Given the description of an element on the screen output the (x, y) to click on. 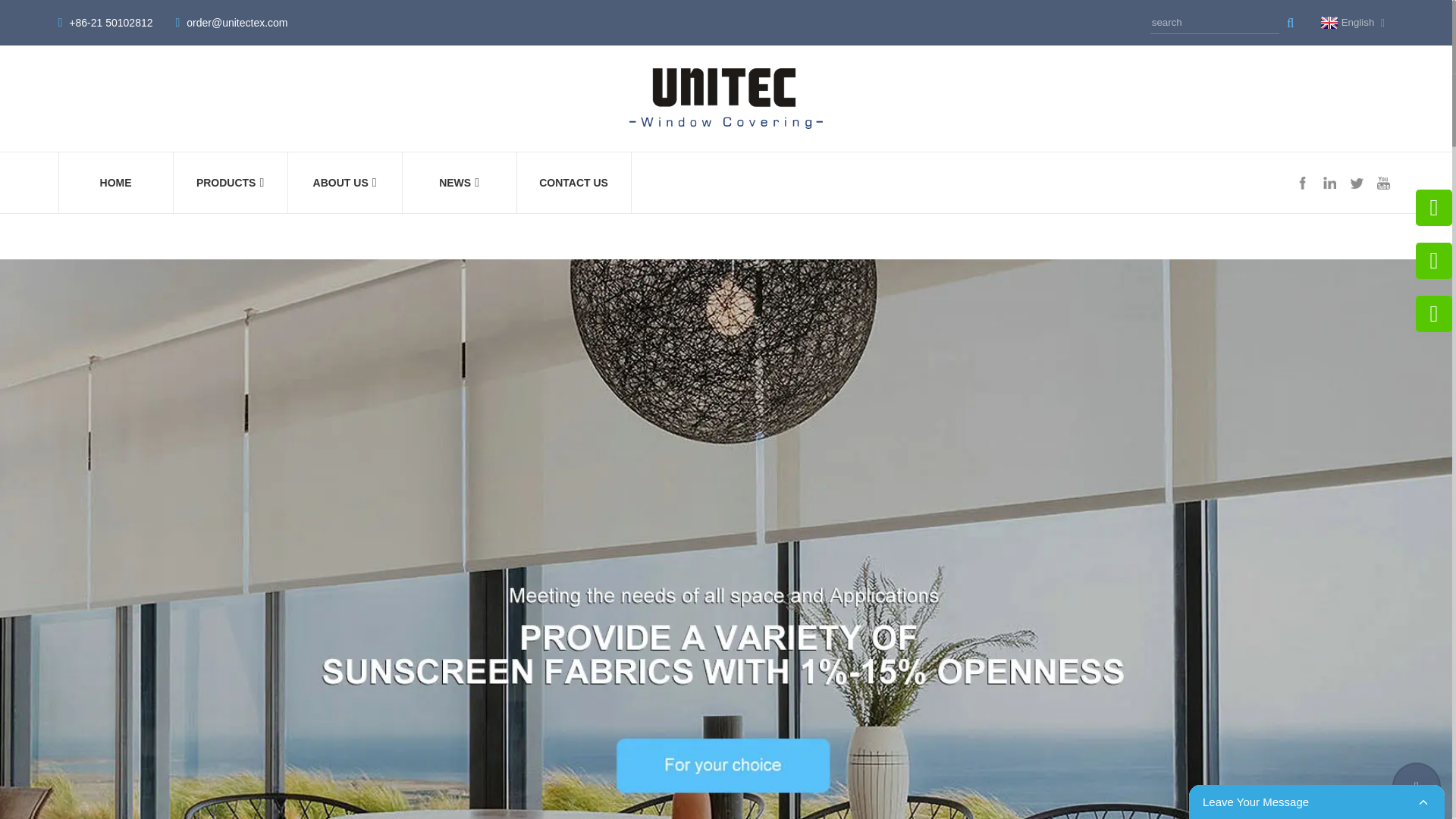
CONTACT US (573, 182)
HOME (115, 182)
English (1345, 22)
ABOUT US (344, 182)
PRODUCTS (230, 182)
NEWS (458, 182)
